Given the description of an element on the screen output the (x, y) to click on. 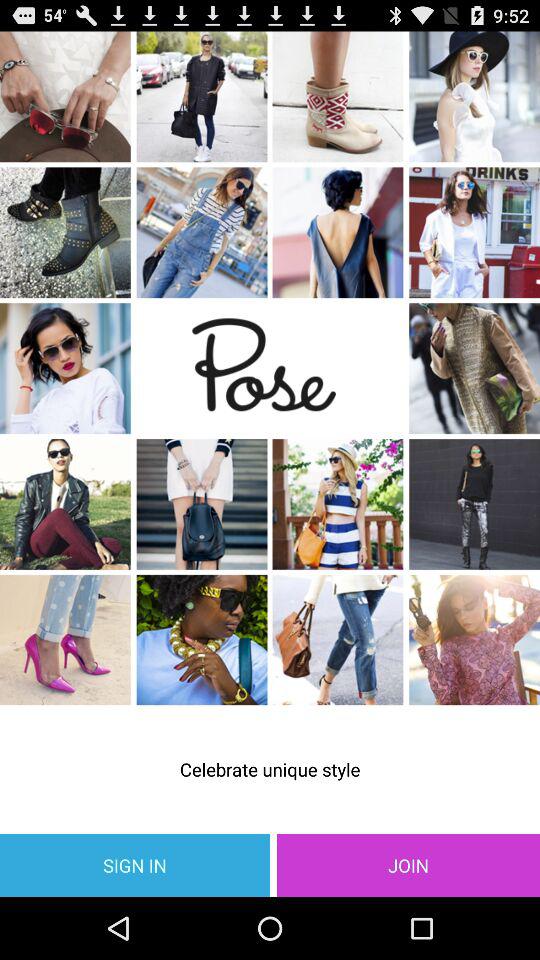
turn off the join at the bottom right corner (408, 864)
